Given the description of an element on the screen output the (x, y) to click on. 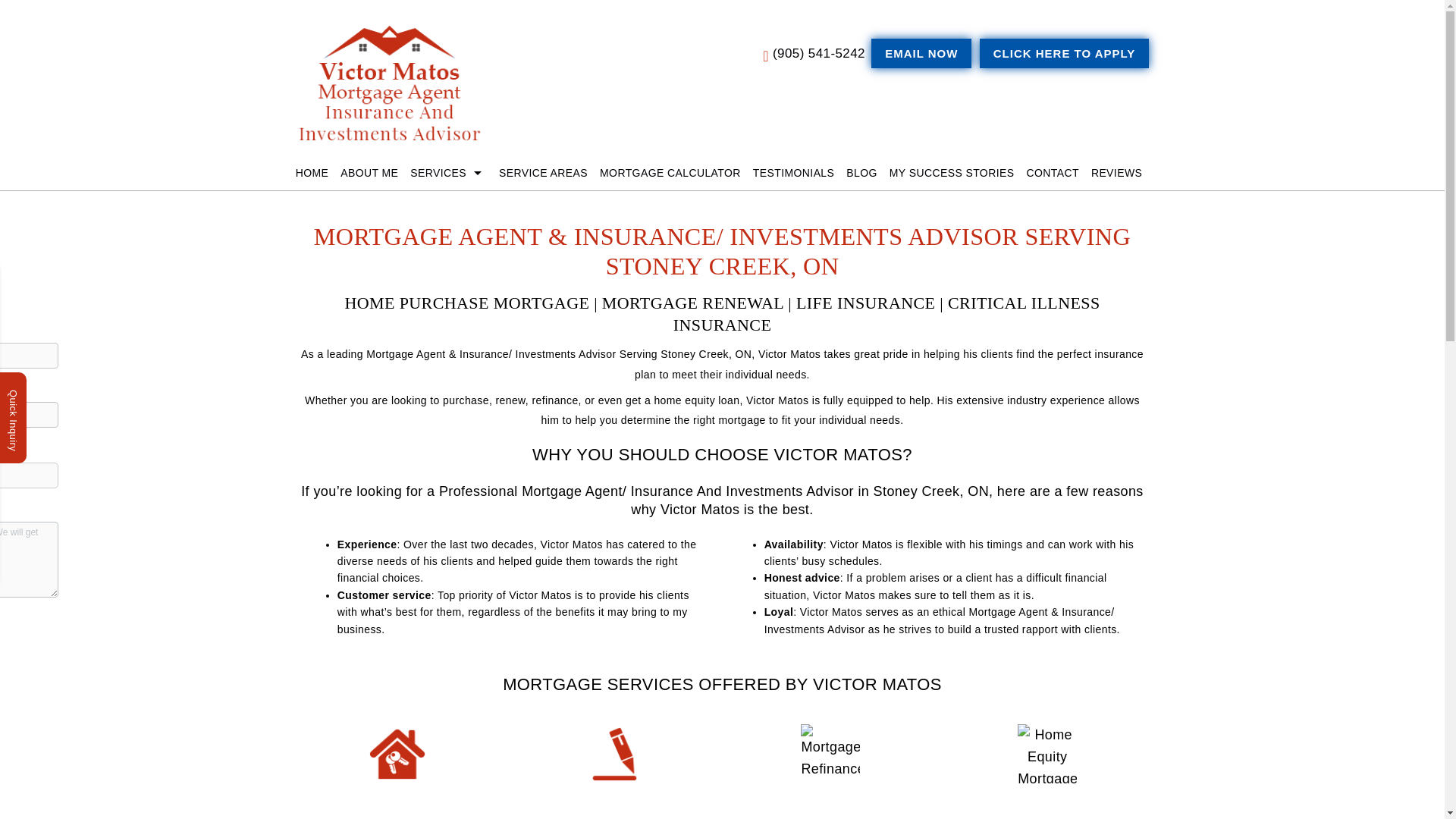
HOME PURCHASE MORTGAGE (397, 811)
BLOG (861, 172)
MORTGAGE RENEWAL (613, 811)
ABOUT ME (369, 172)
SERVICE AREAS (543, 172)
MORTGAGE REFINANCE (830, 811)
EMAIL NOW (920, 52)
MORTGAGE CALCULATOR (670, 172)
TESTIMONIALS (793, 172)
CONTACT (1052, 172)
CLICK HERE TO APPLY (1064, 52)
HOME (314, 172)
SERVICES (448, 172)
REVIEWS (1116, 172)
MY SUCCESS STORIES (951, 172)
